Given the description of an element on the screen output the (x, y) to click on. 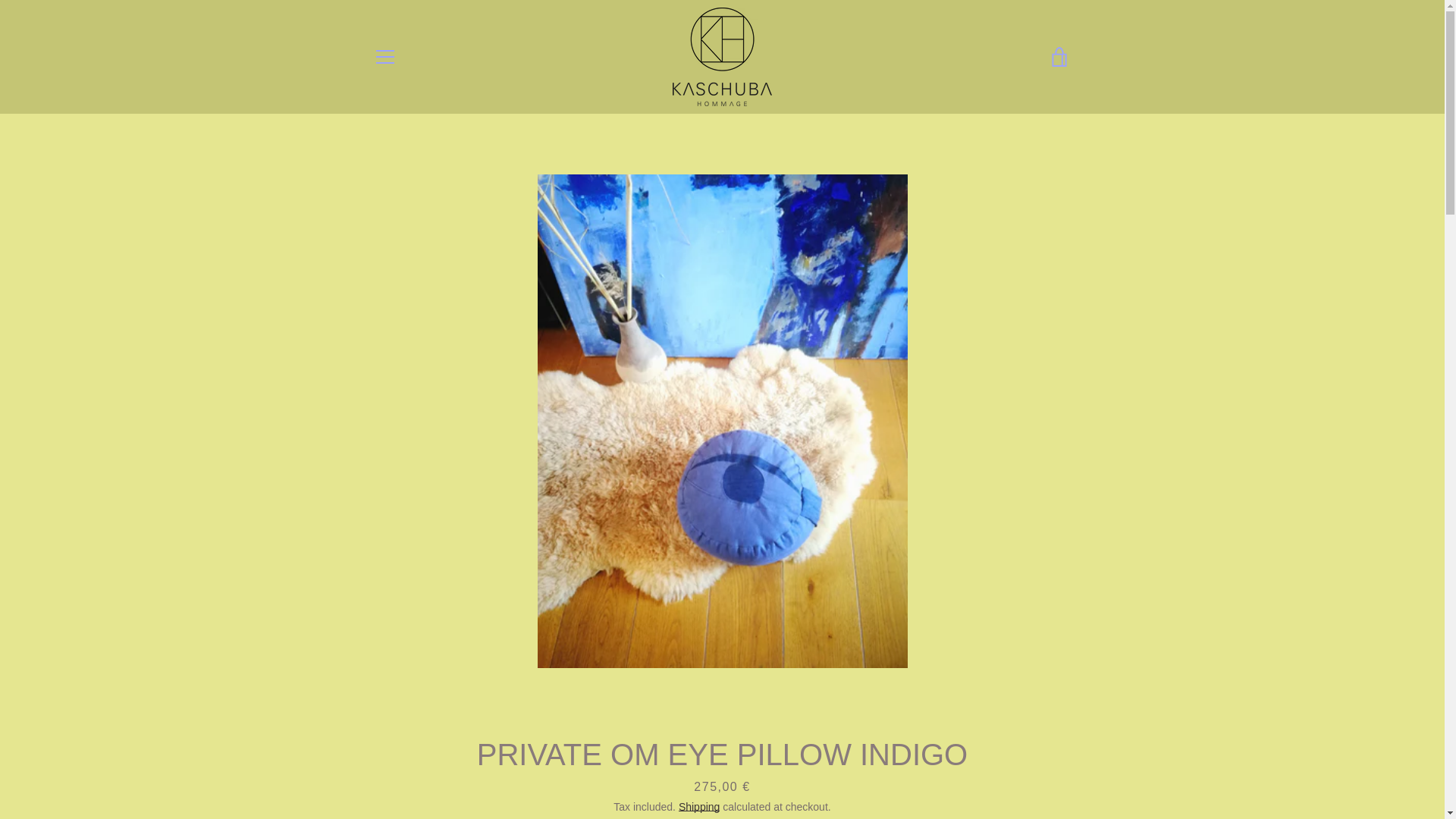
MENU (384, 56)
VIEW CART (1059, 56)
Shipping (699, 806)
